Given the description of an element on the screen output the (x, y) to click on. 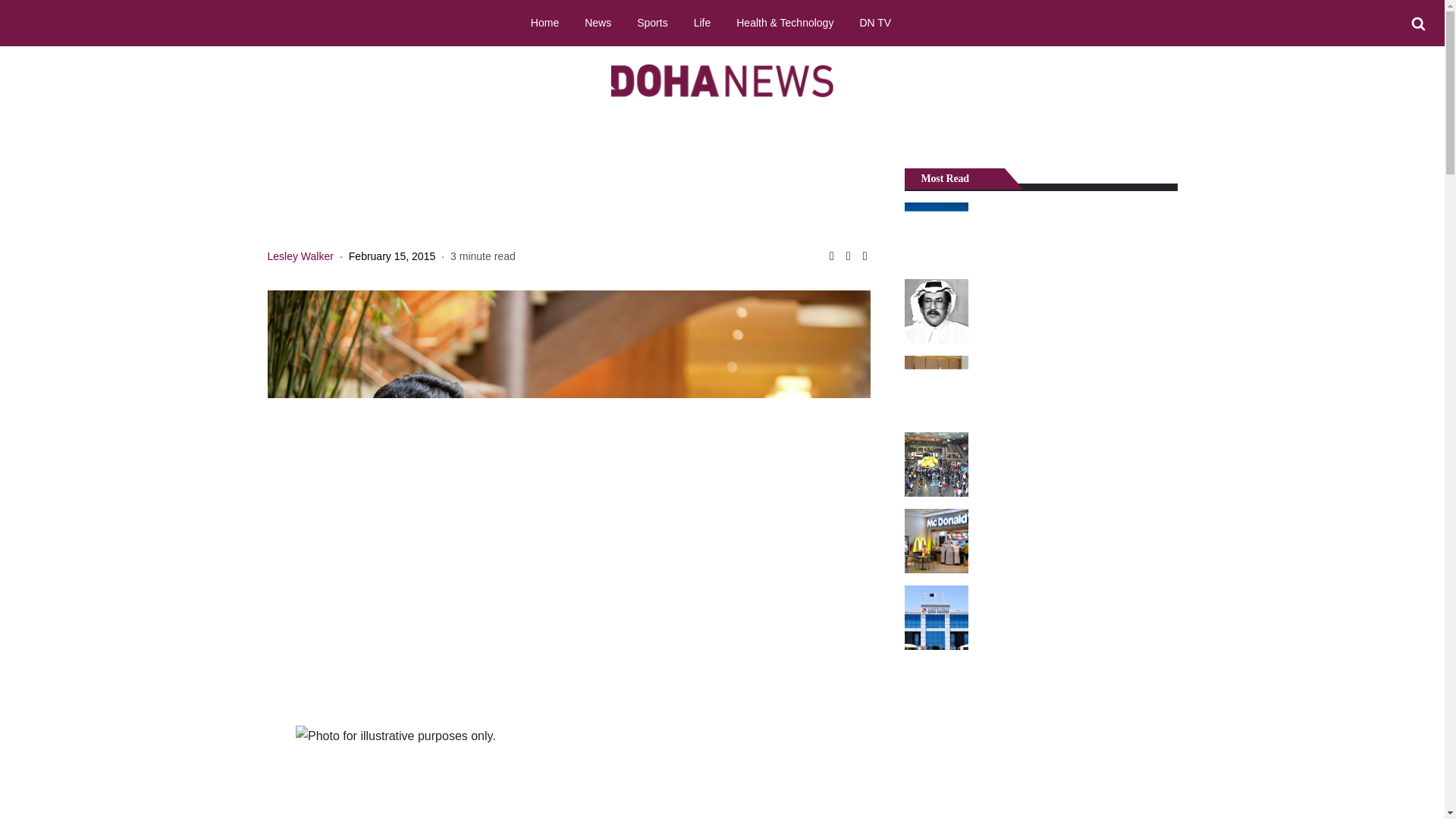
Sports (651, 22)
News (598, 22)
Search (1417, 23)
Life (702, 22)
Home (545, 22)
View all posts by Lesley Walker (299, 256)
DN TV (875, 22)
Lesley Walker (299, 256)
February 15, 2015 (392, 256)
